Given the description of an element on the screen output the (x, y) to click on. 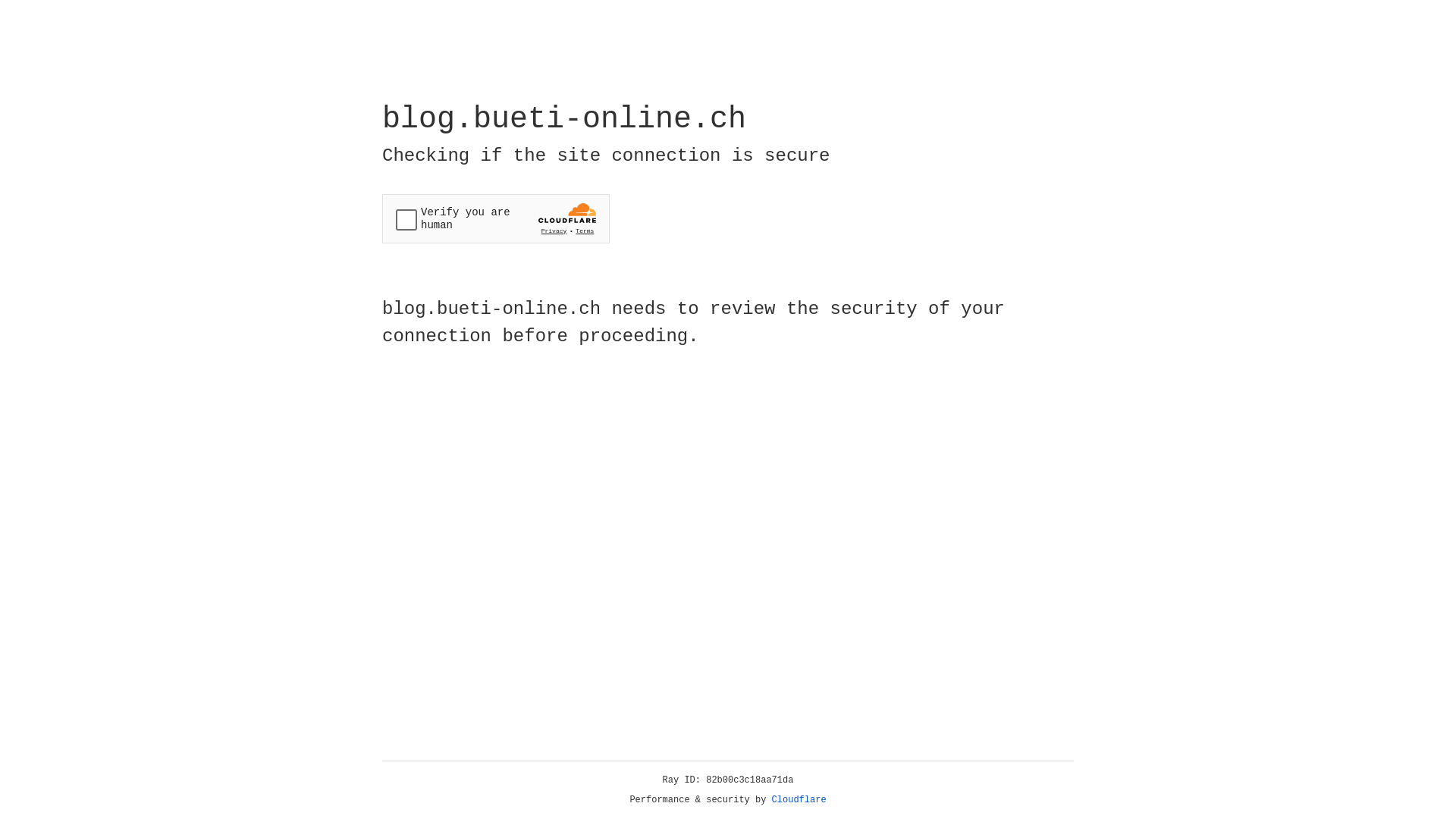
Widget containing a Cloudflare security challenge Element type: hover (495, 218)
Cloudflare Element type: text (798, 799)
